Given the description of an element on the screen output the (x, y) to click on. 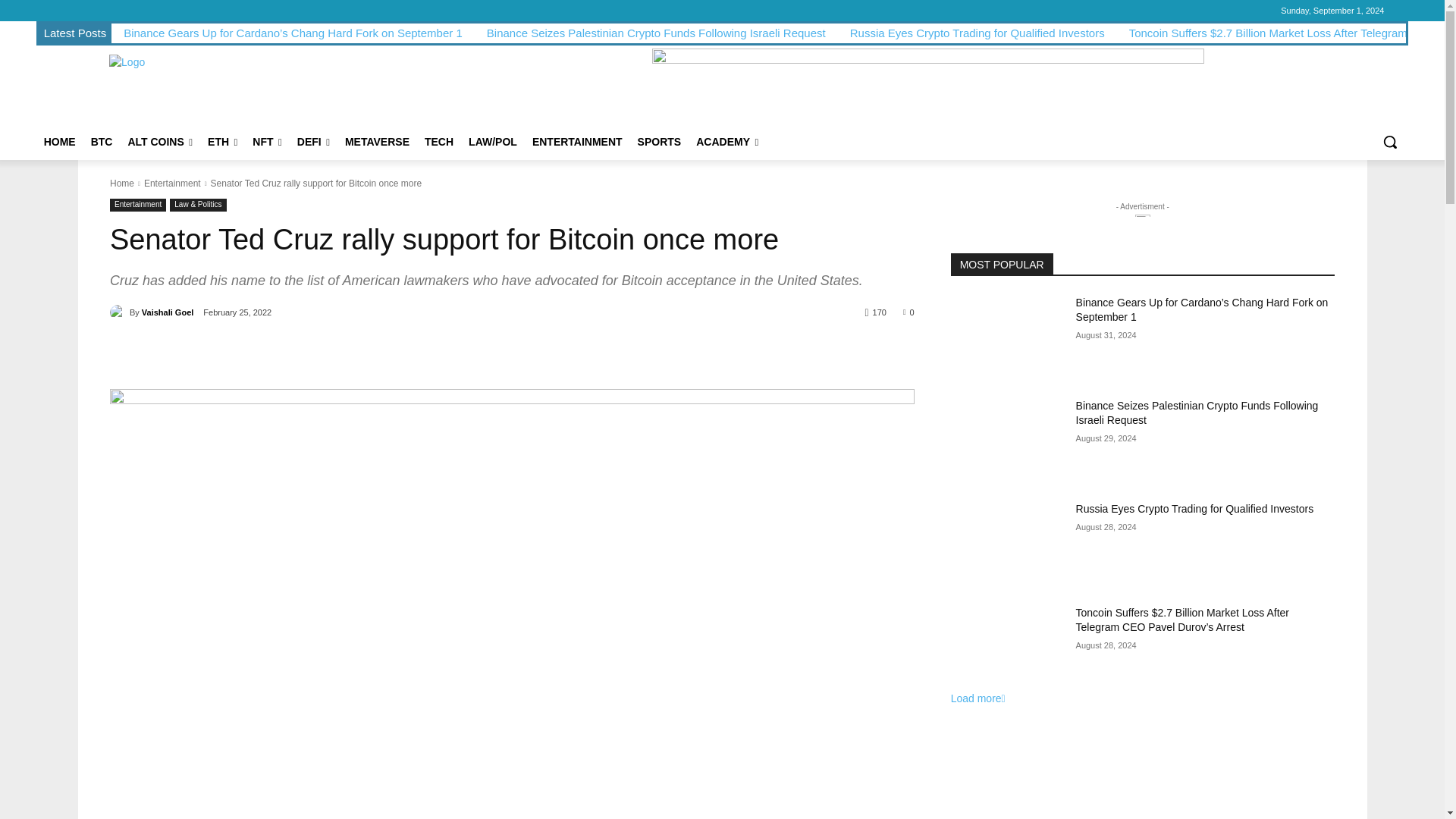
HOME (59, 141)
Russia Eyes Crypto Trading for Qualified Investors (977, 32)
ALT COINS (159, 141)
BTC (101, 141)
